Given the description of an element on the screen output the (x, y) to click on. 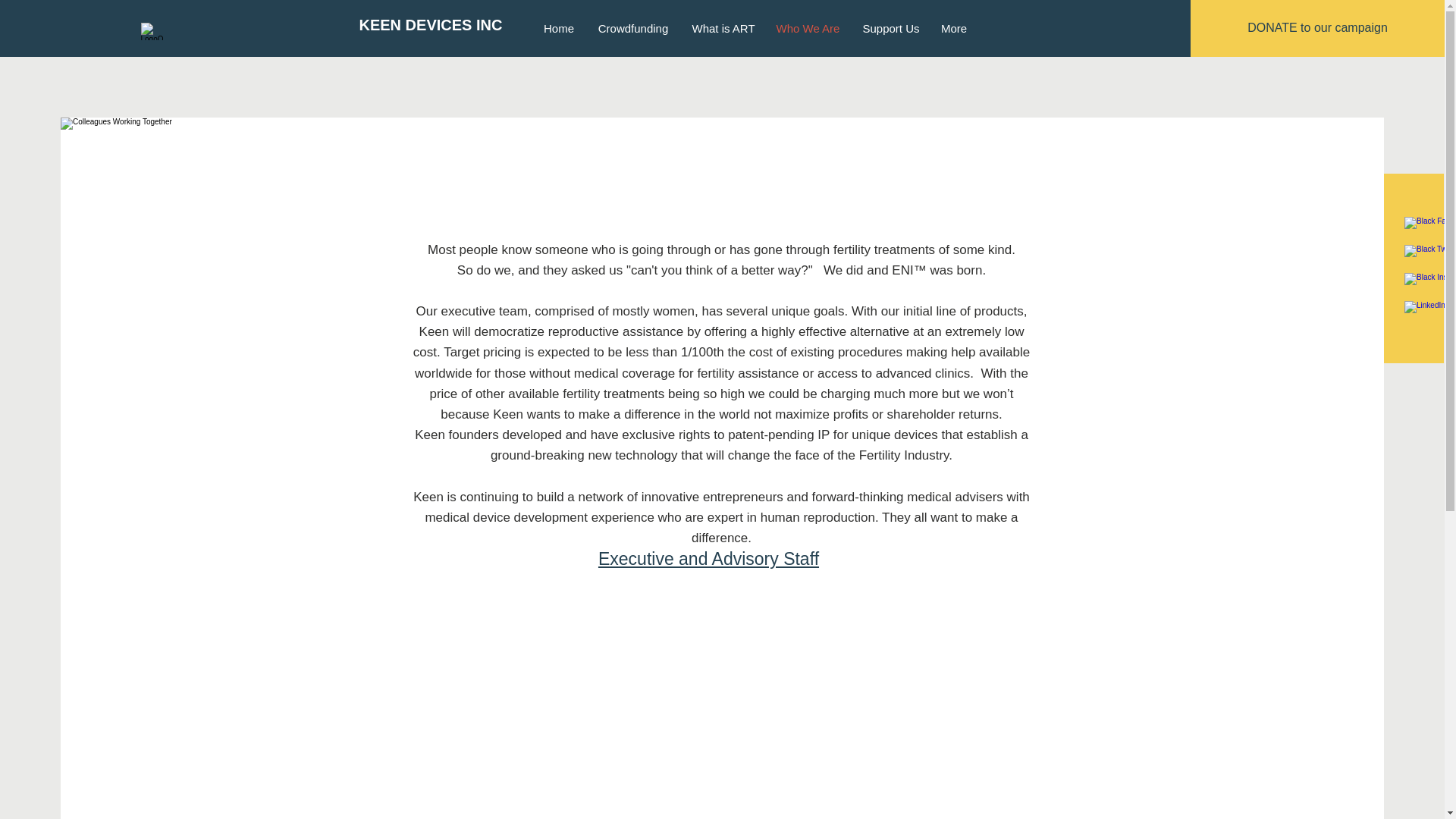
Support Us (889, 28)
Crowdfunding (632, 28)
Home (559, 28)
What is ART (723, 28)
Executive and Advisory Staff (708, 558)
Who We Are (807, 28)
